Given the description of an element on the screen output the (x, y) to click on. 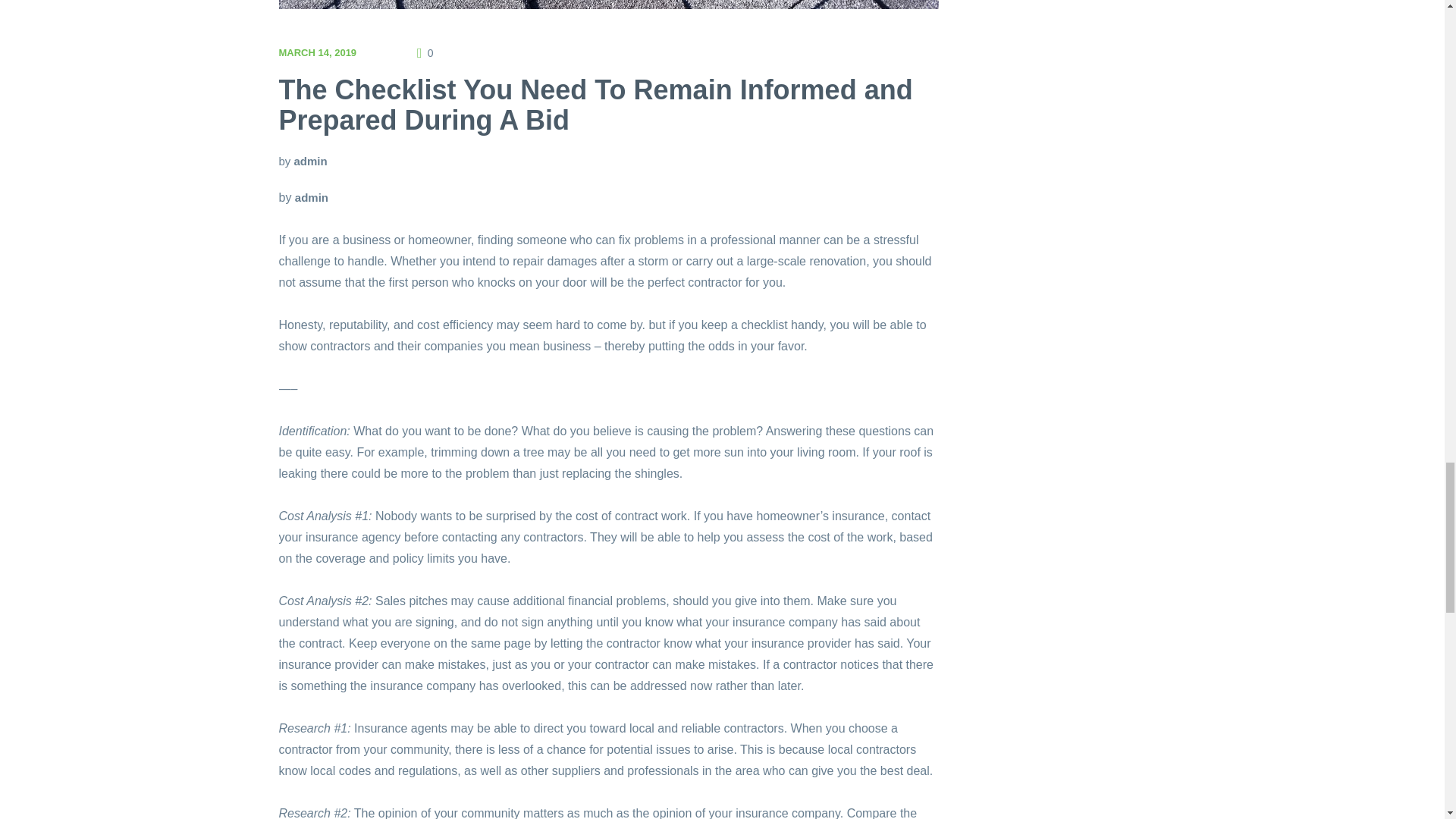
admin (312, 196)
MARCH 14, 2019 (317, 52)
admin (310, 160)
